Given the description of an element on the screen output the (x, y) to click on. 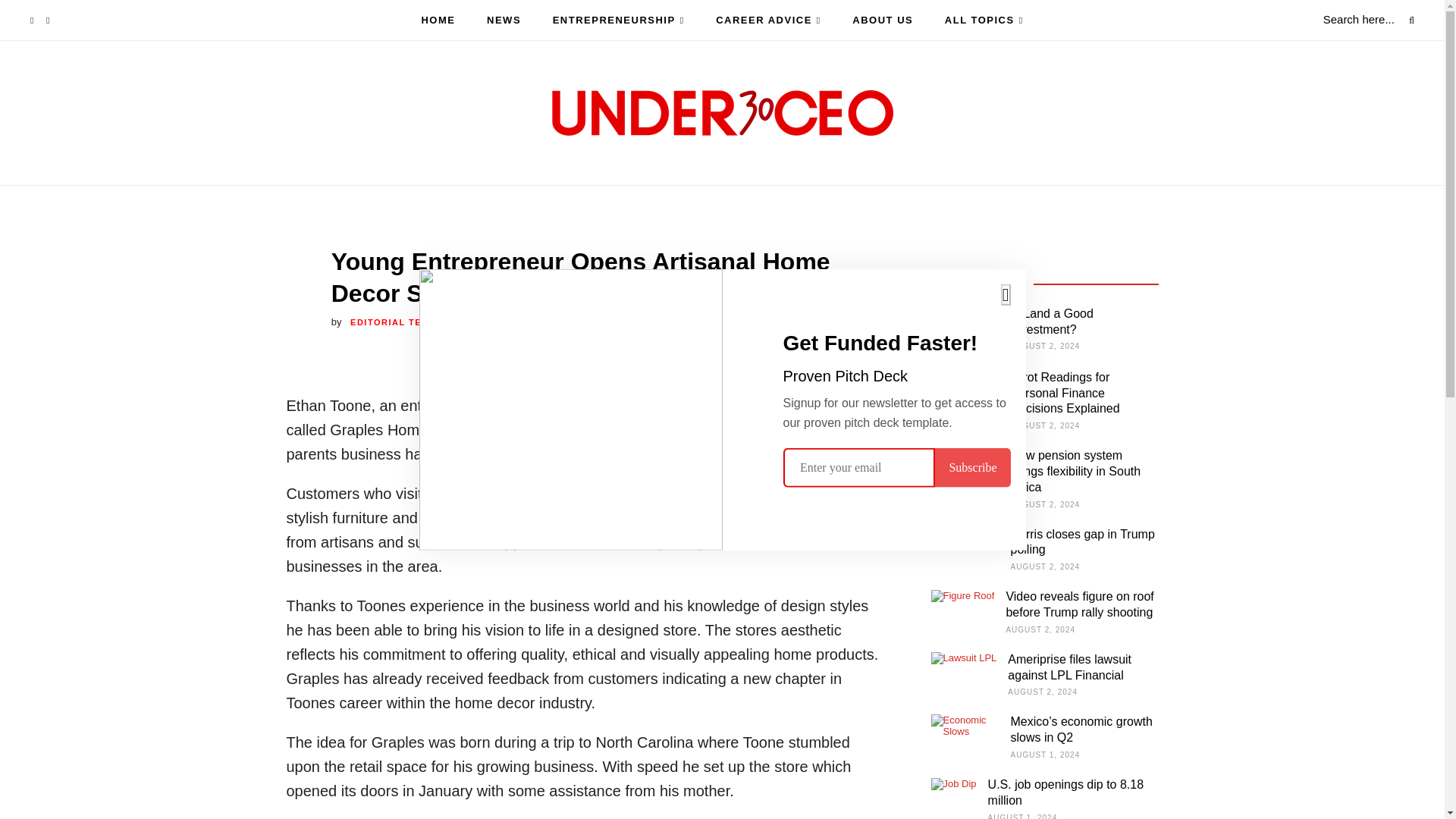
ALL TOPICS (983, 20)
CAREER ADVICE (768, 20)
ENTREPRENEURSHIP (618, 20)
ABOUT US (881, 20)
Posts by Editorial Team (393, 321)
